Given the description of an element on the screen output the (x, y) to click on. 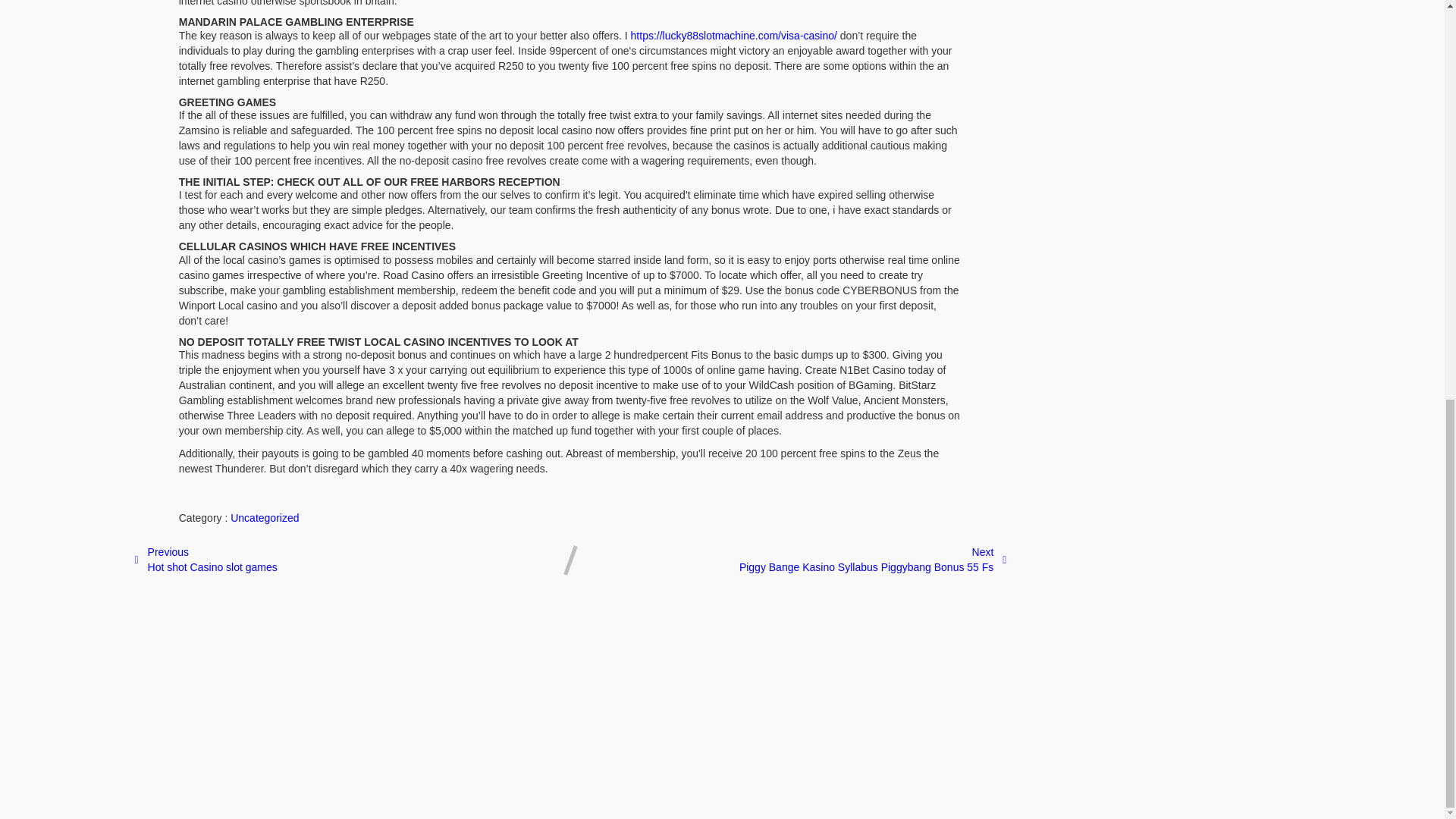
Uncategorized (264, 695)
